Given the description of an element on the screen output the (x, y) to click on. 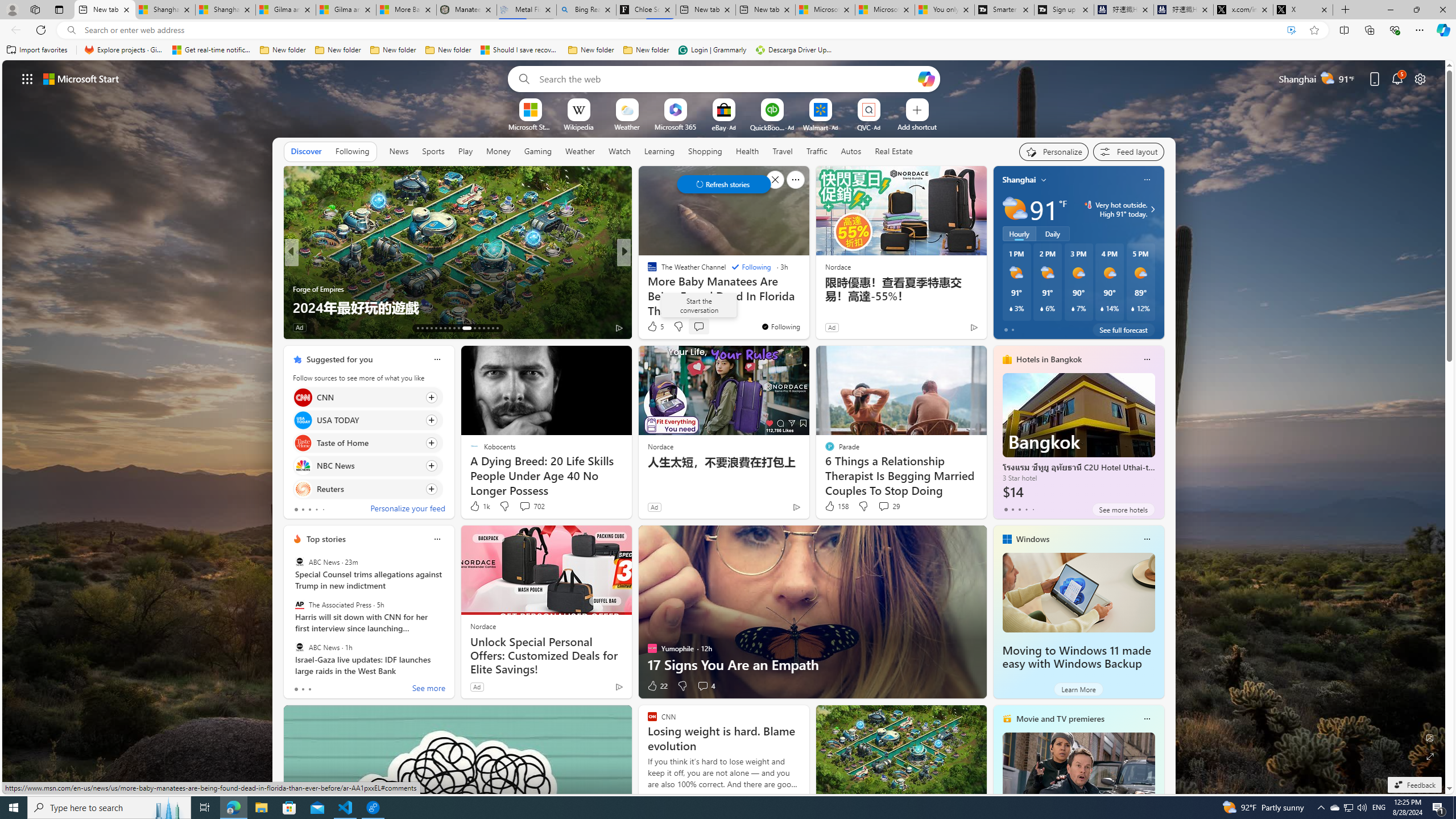
Click to follow source Taste of Home (367, 442)
View comments 247 Comment (6, 327)
The Associated Press (299, 604)
269 Like (654, 327)
Descarga Driver Updater (794, 49)
View comments 702 Comment (523, 505)
Sports (432, 151)
